Given the description of an element on the screen output the (x, y) to click on. 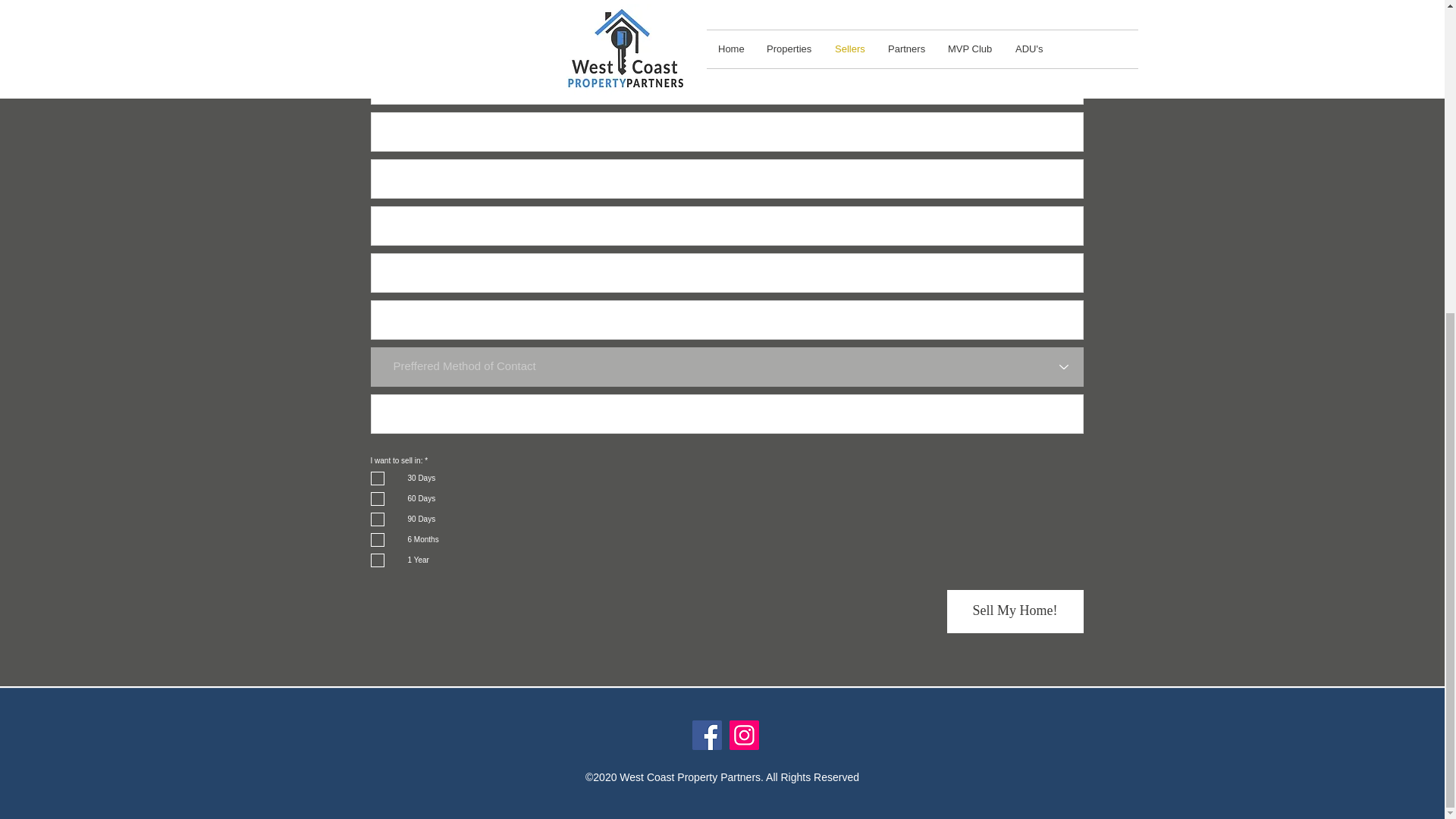
Sell My Home! (1014, 611)
